Given the description of an element on the screen output the (x, y) to click on. 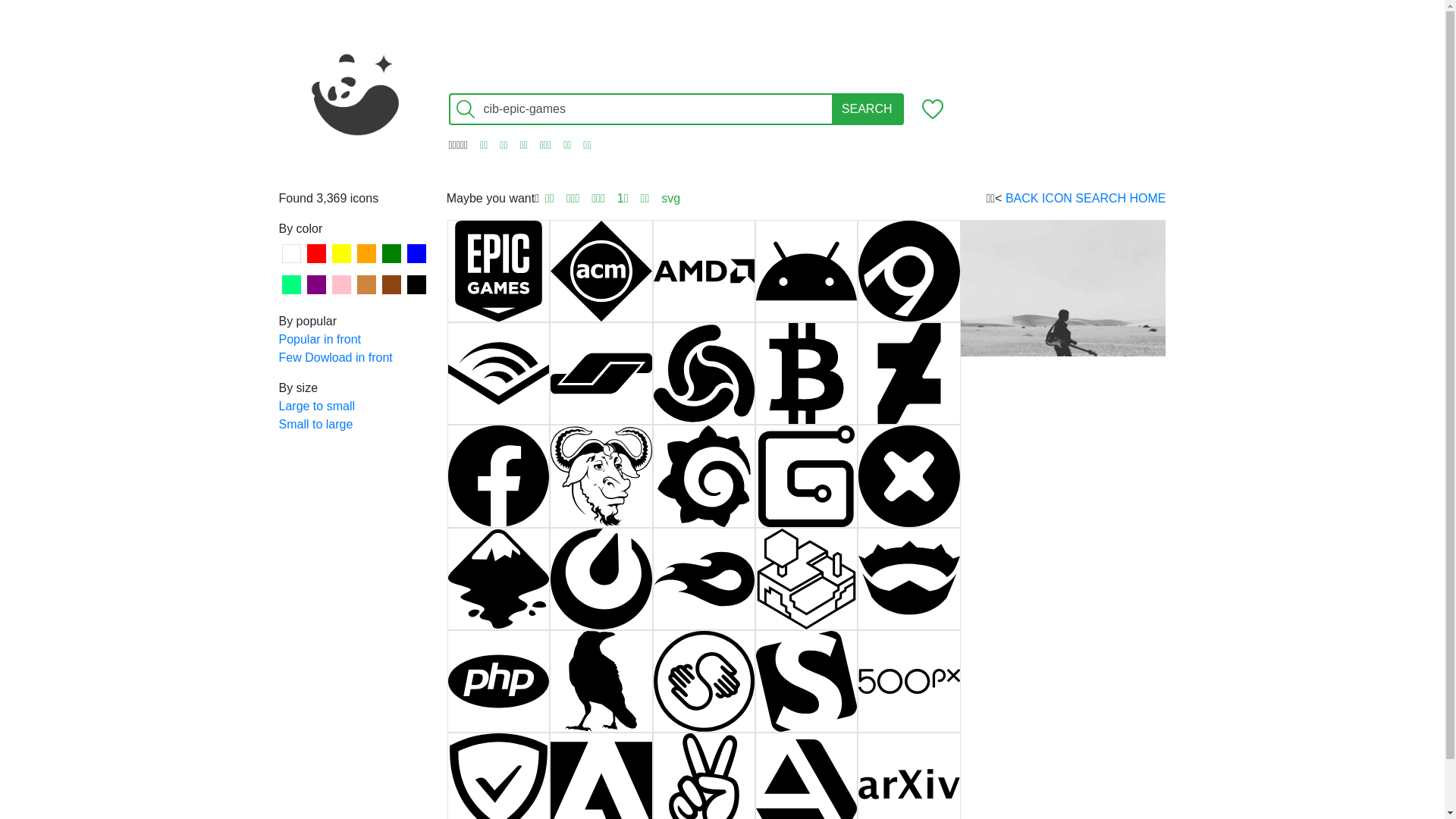
Large to small Element type: text (354, 406)
svg Element type: text (670, 198)
Small to large Element type: text (354, 424)
BACK ICON SEARCH HOME Element type: text (1085, 197)
SEARCH Element type: text (866, 108)
Few Dowload in front Element type: text (354, 357)
Popular in front Element type: text (354, 339)
